Given the description of an element on the screen output the (x, y) to click on. 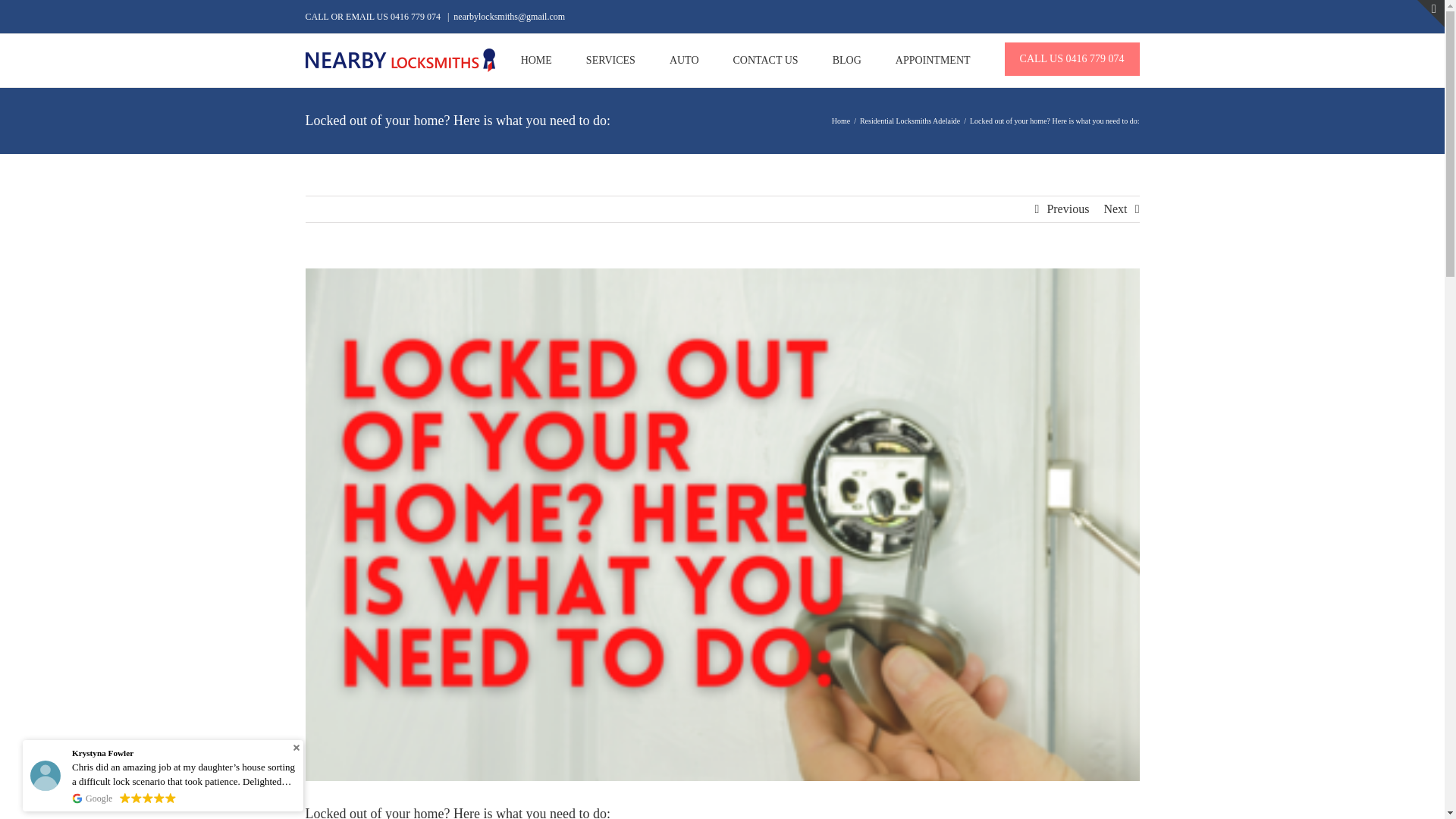
SERVICES (610, 60)
CALL US 0416 779 074 (1072, 59)
CONTACT US (765, 60)
0416 779 074 (415, 16)
APPOINTMENT (933, 60)
